Given the description of an element on the screen output the (x, y) to click on. 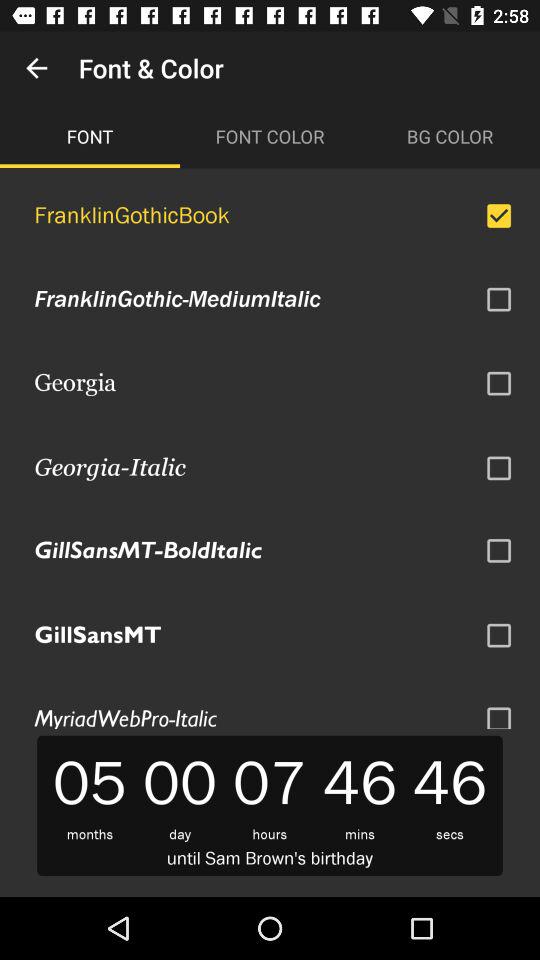
jump until the bg color item (450, 136)
